Given the description of an element on the screen output the (x, y) to click on. 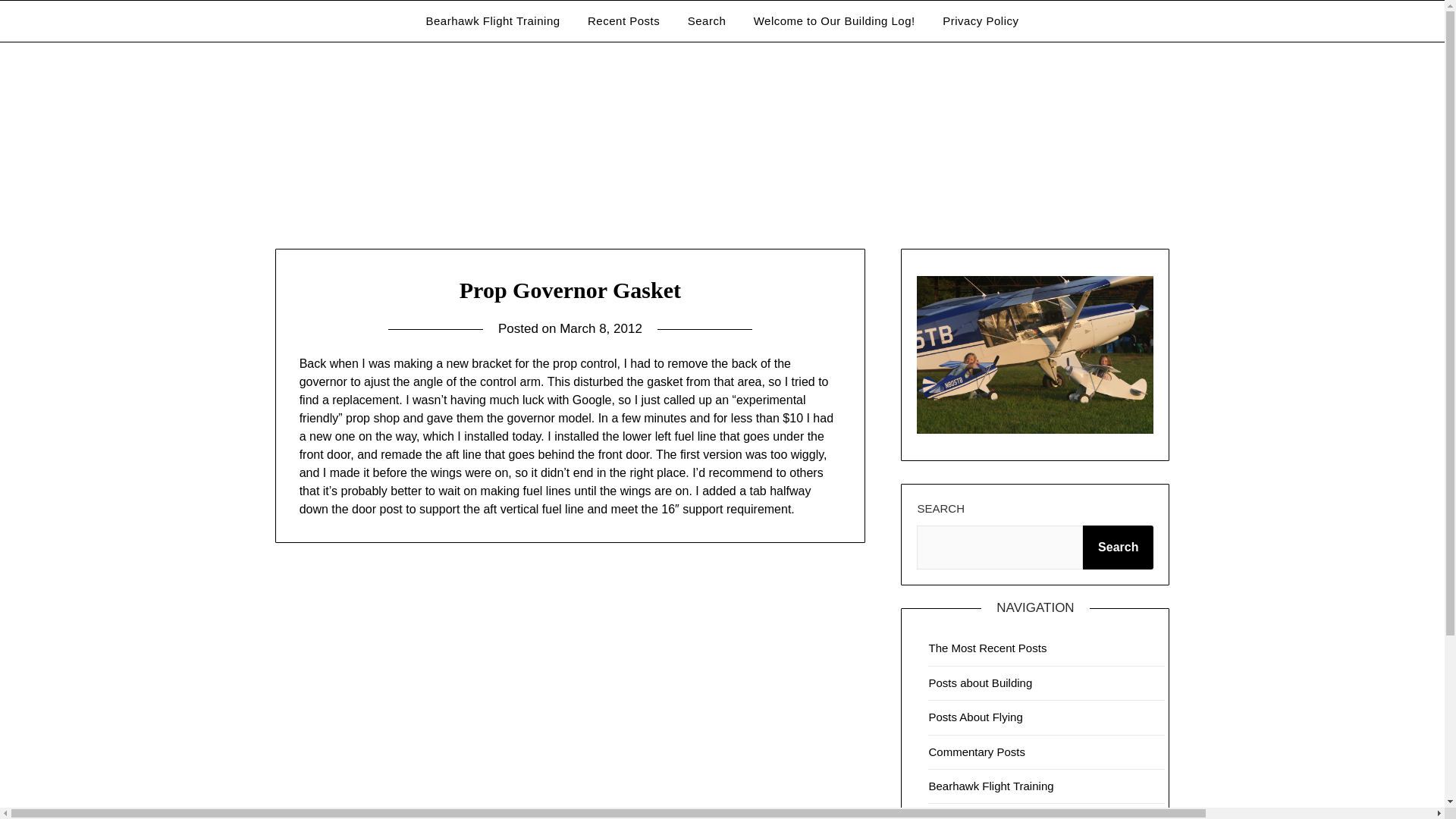
Search (1118, 547)
Search (706, 20)
Privacy Policy (980, 20)
Posts About Flying (975, 716)
March 8, 2012 (600, 328)
The Most Recent Posts (987, 647)
Jared and Tabitha's Bearhawk Construction Log (660, 53)
Welcome to Our Building Log! (834, 20)
Bearhawk Flight Training (492, 20)
Posts about Building (980, 682)
Bearhawk Flight Training (990, 785)
Recent Posts (623, 20)
Buy Your Own Bearhawk Kit! (1001, 816)
Commentary Posts (976, 751)
